Given the description of an element on the screen output the (x, y) to click on. 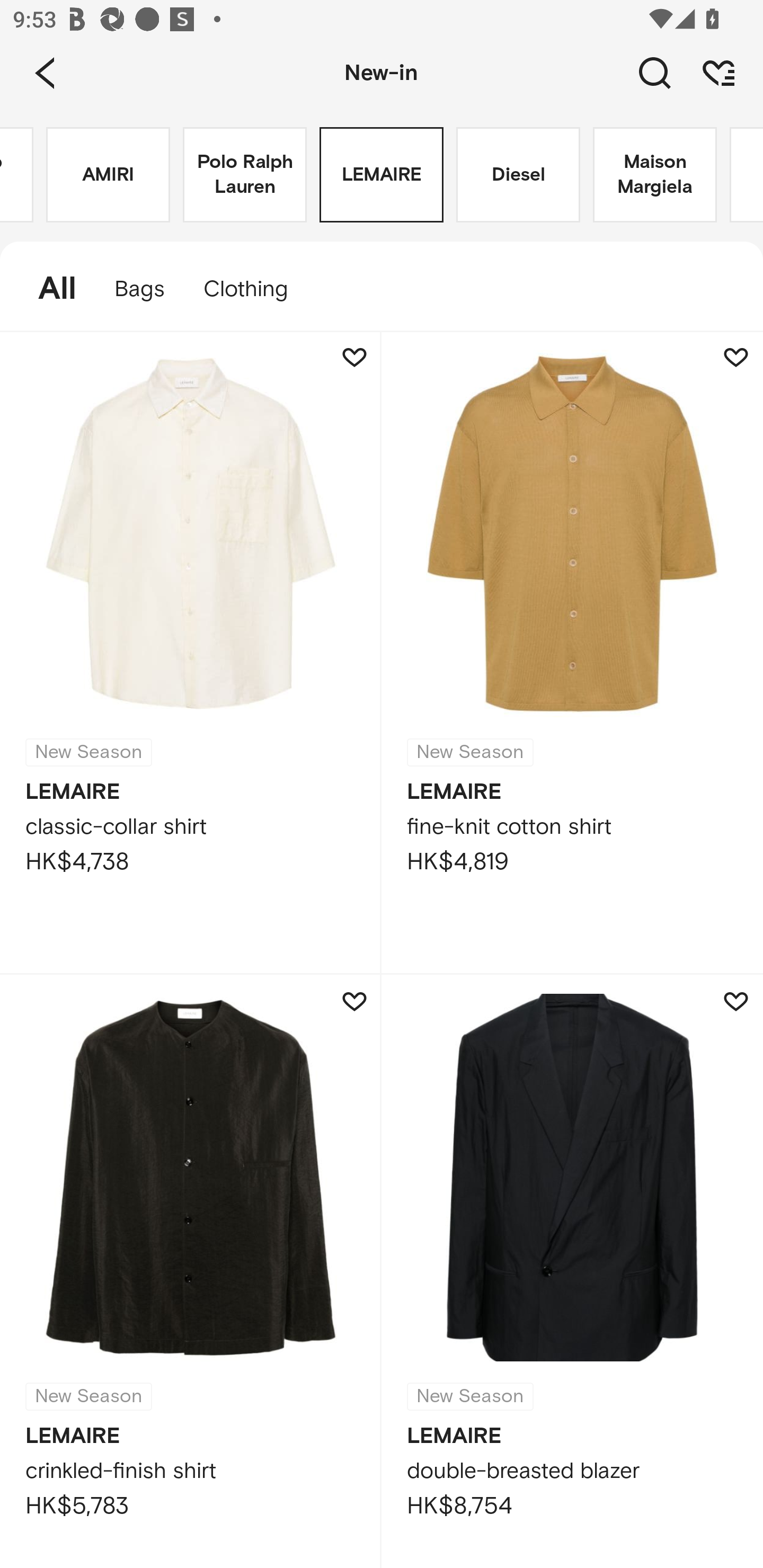
AMIRI (107, 174)
Polo Ralph Lauren (244, 174)
LEMAIRE (381, 174)
Diesel (517, 174)
Maison Margiela (654, 174)
All (47, 288)
Bags (139, 288)
Clothing (254, 288)
New Season LEMAIRE classic-collar shirt HK$4,738 (190, 652)
New Season LEMAIRE fine-knit cotton shirt HK$4,819 (572, 652)
New Season LEMAIRE crinkled-finish shirt HK$5,783 (190, 1271)
New Season LEMAIRE double-breasted blazer HK$8,754 (572, 1271)
